Given the description of an element on the screen output the (x, y) to click on. 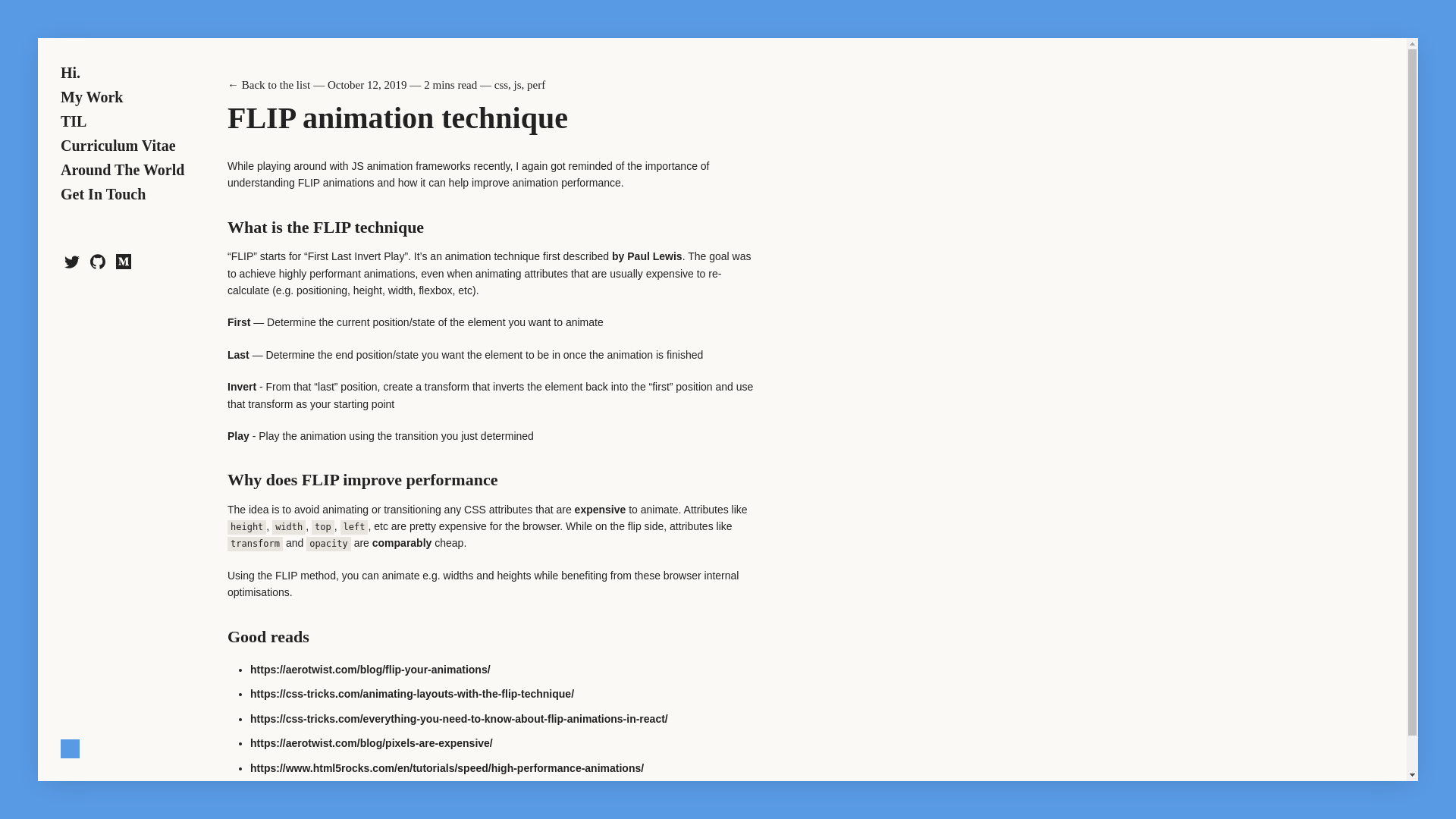
comparably (402, 542)
expensive (600, 509)
Around The World (122, 169)
Curriculum Vitae (118, 145)
by Paul Lewis (646, 256)
My Work (91, 96)
TIL (73, 120)
Get In Touch (103, 193)
